Given the description of an element on the screen output the (x, y) to click on. 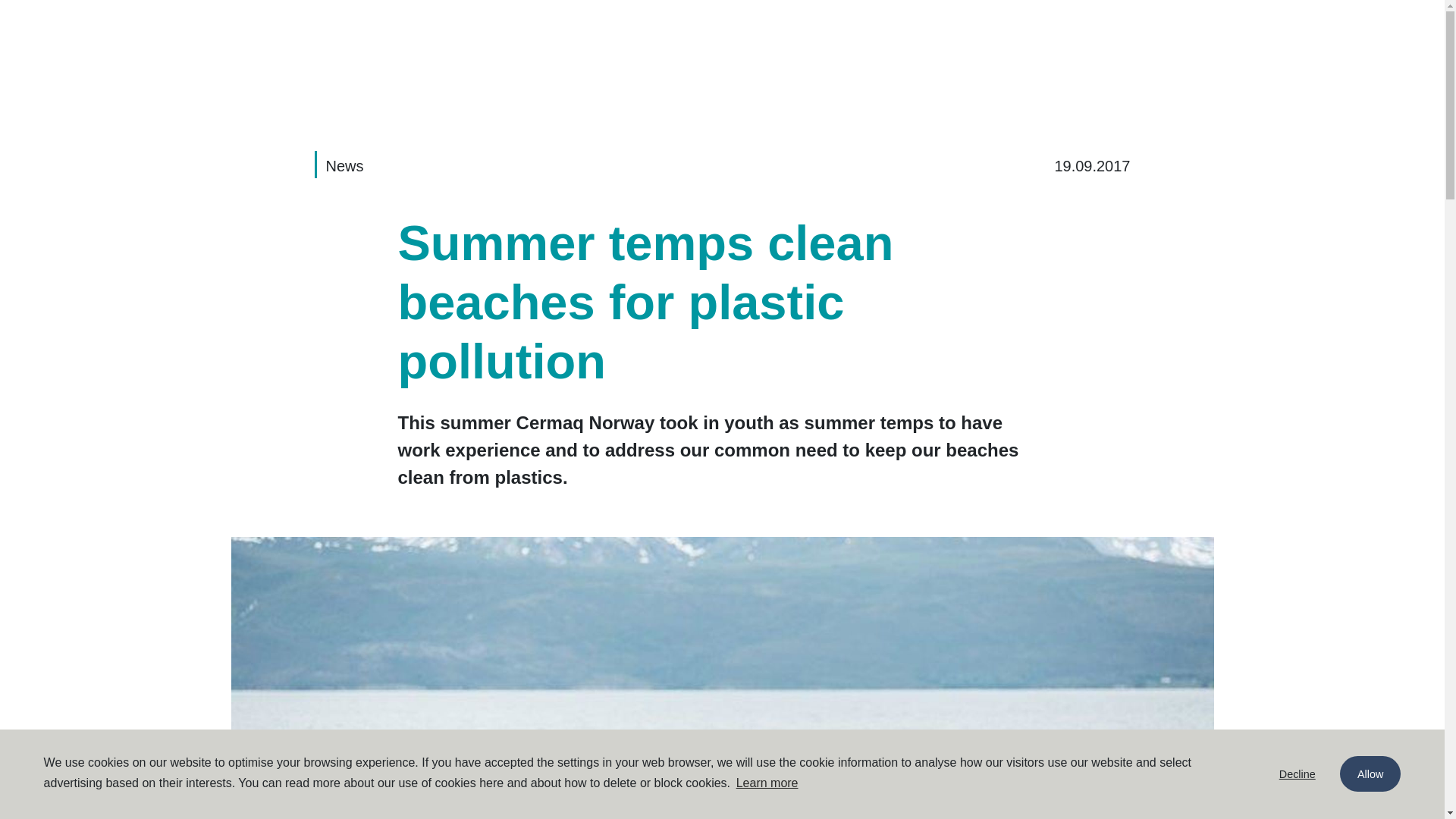
Allow (1369, 773)
Decline (1297, 773)
Learn more (766, 783)
